Given the description of an element on the screen output the (x, y) to click on. 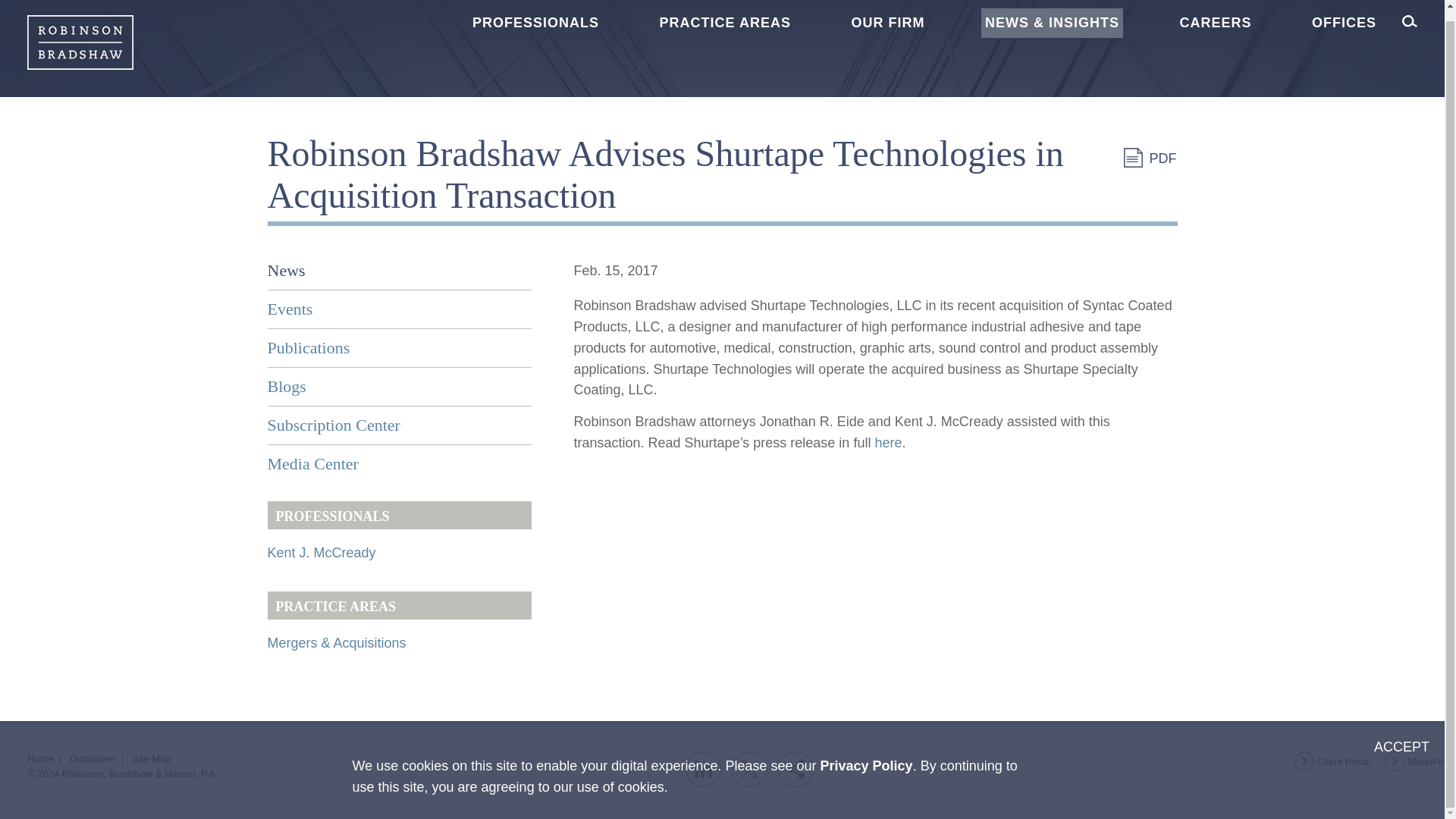
PRACTICE AREAS (725, 22)
Share (795, 769)
Privacy Policy (866, 754)
ACCEPT (1401, 736)
LinkedIn (702, 769)
Shurtape press release (888, 442)
PROFESSIONALS (535, 22)
